Given the description of an element on the screen output the (x, y) to click on. 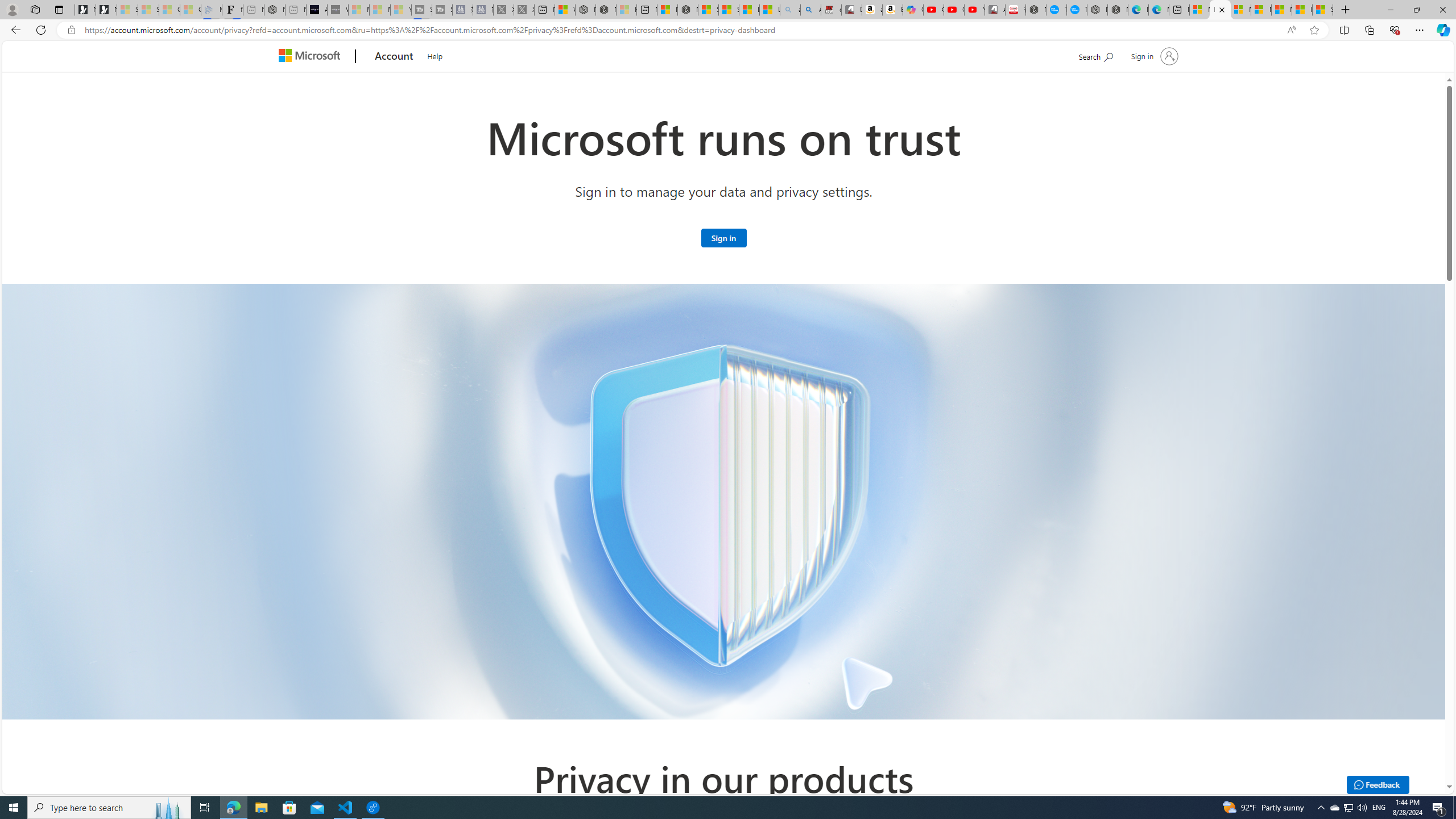
Help (435, 54)
What's the best AI voice generator? - voice.ai - Sleeping (337, 9)
All Cubot phones (994, 9)
Wildlife - MSN (564, 9)
AI Voice Changer for PC and Mac - Voice.ai (316, 9)
